Given the description of an element on the screen output the (x, y) to click on. 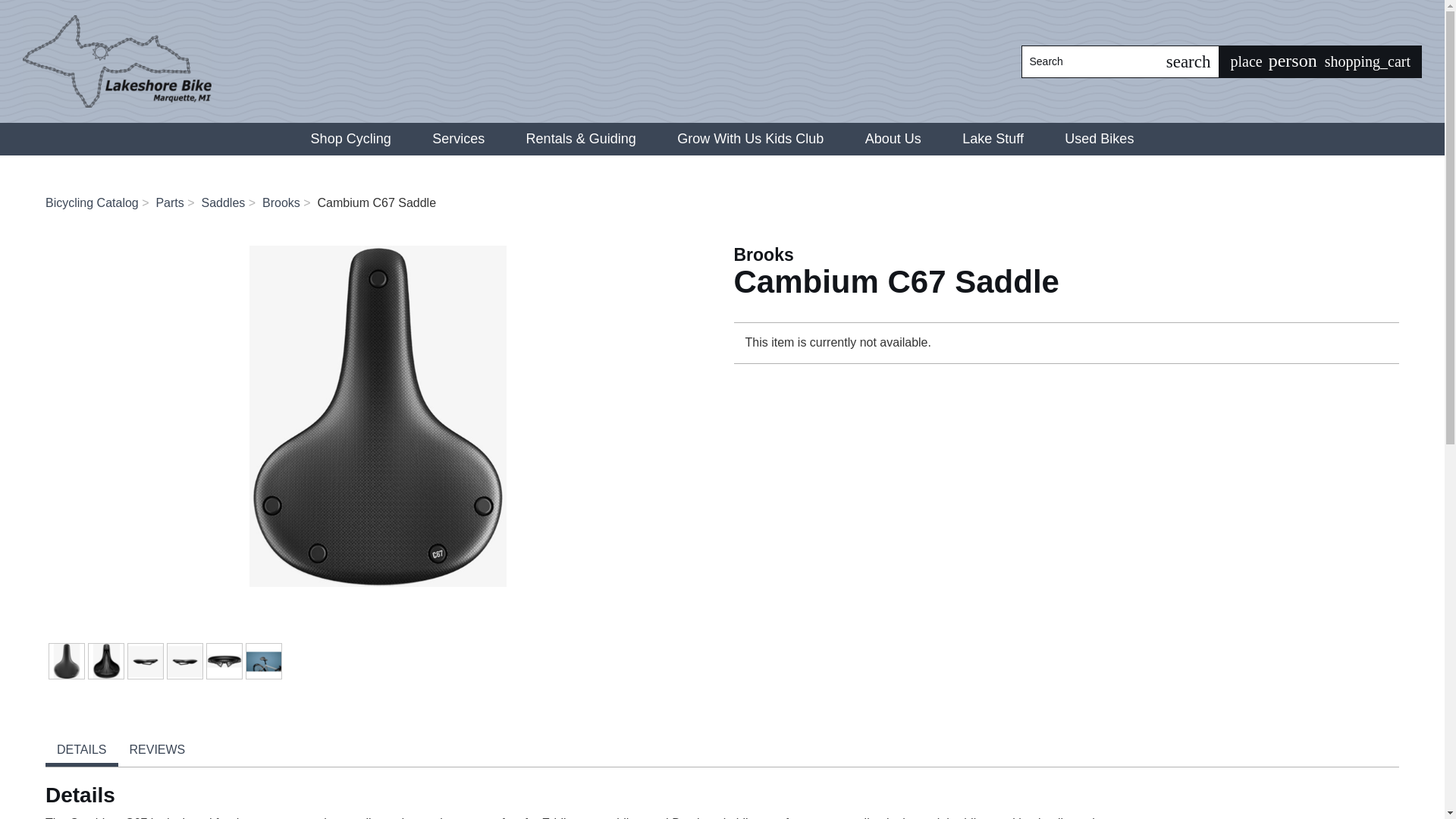
Store (1246, 61)
Shop Cycling (350, 138)
Account (1293, 61)
Search (1088, 61)
Cart (1367, 61)
Store (1246, 61)
Search (1188, 61)
Lakeshore Bike Home Page (117, 60)
My Account (1293, 61)
